Given the description of an element on the screen output the (x, y) to click on. 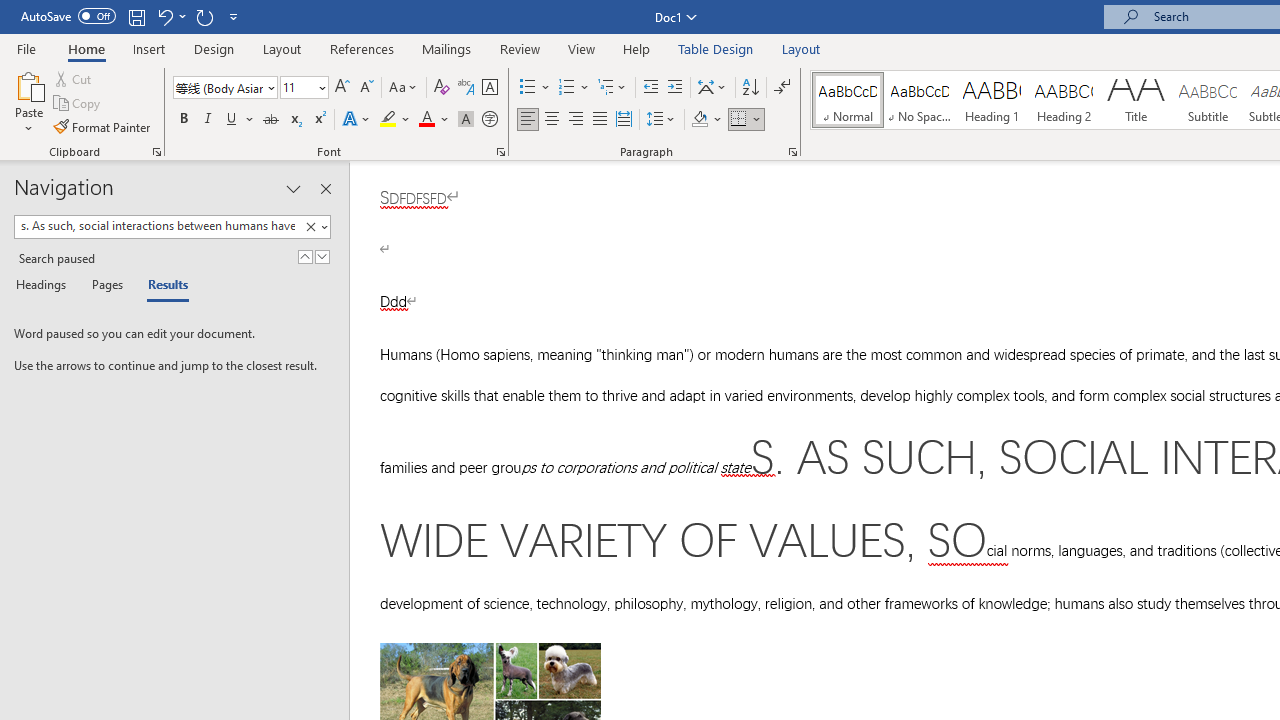
Heading 1 (991, 100)
Character Shading (465, 119)
Table Design (715, 48)
Font Color (434, 119)
Search document (157, 226)
Title (1135, 100)
Office Clipboard... (156, 151)
Phonetic Guide... (465, 87)
